Given the description of an element on the screen output the (x, y) to click on. 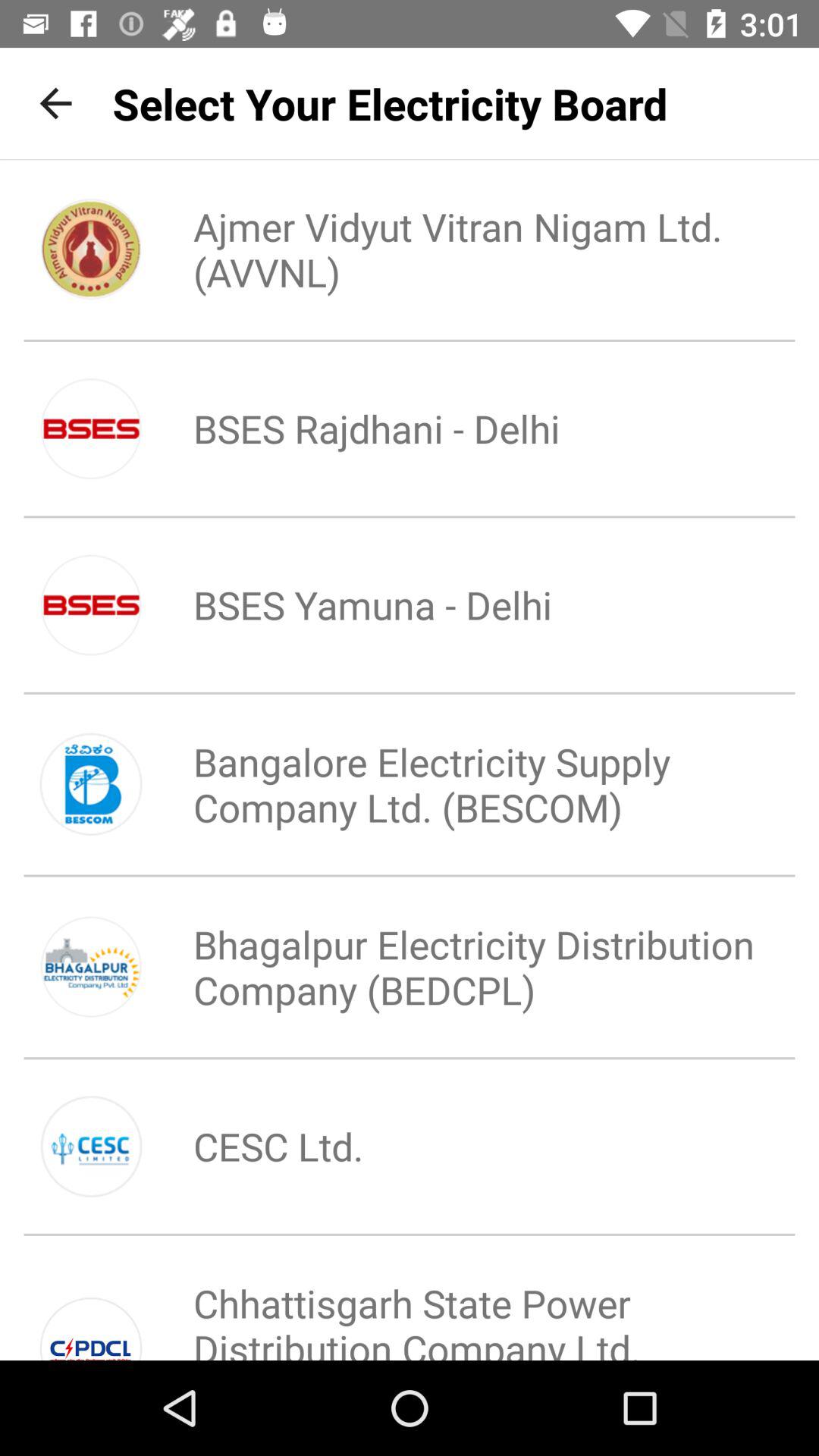
select the chhattisgarh state power (460, 1305)
